Given the description of an element on the screen output the (x, y) to click on. 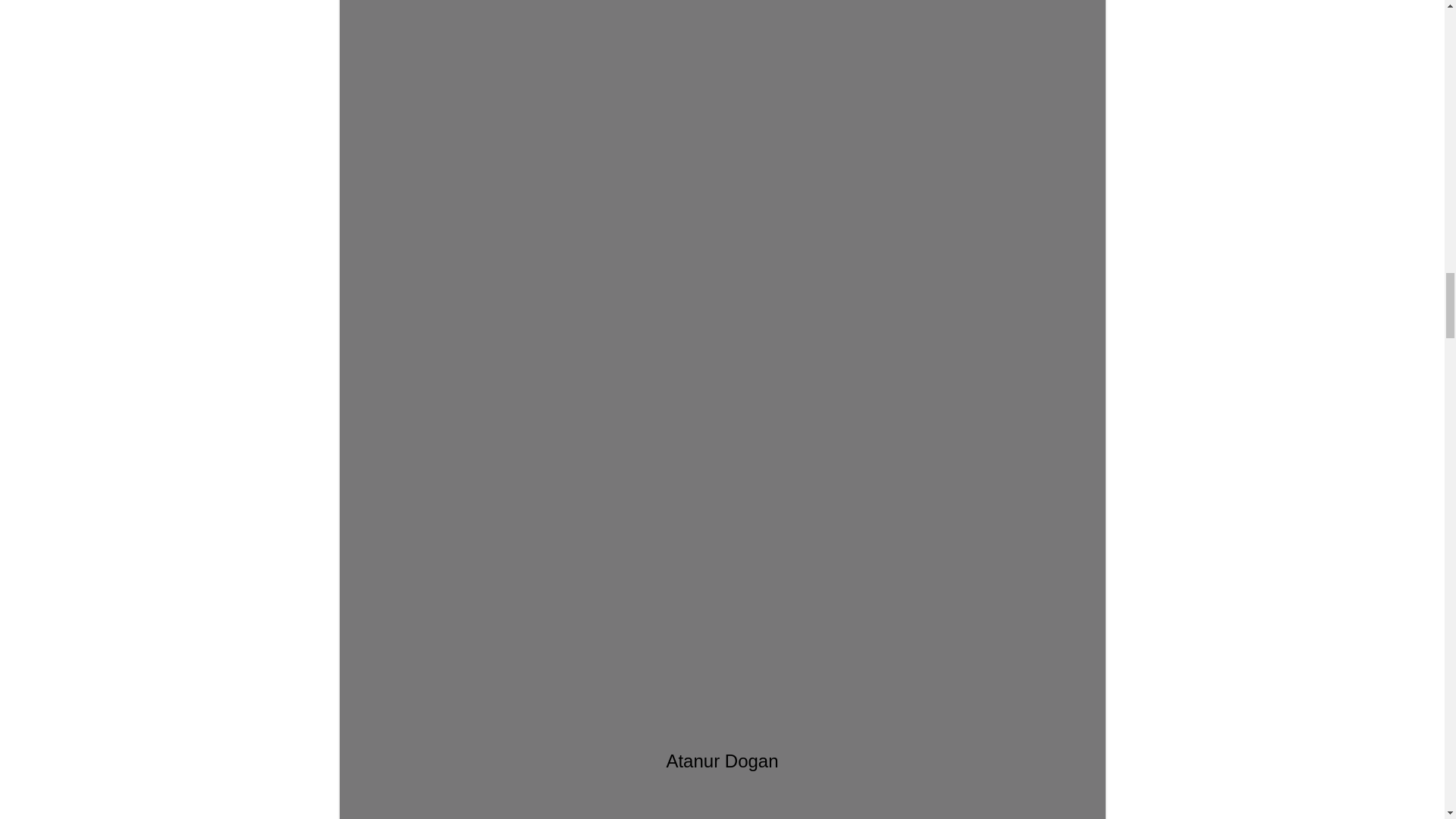
Atanur Dogan (722, 206)
